Given the description of an element on the screen output the (x, y) to click on. 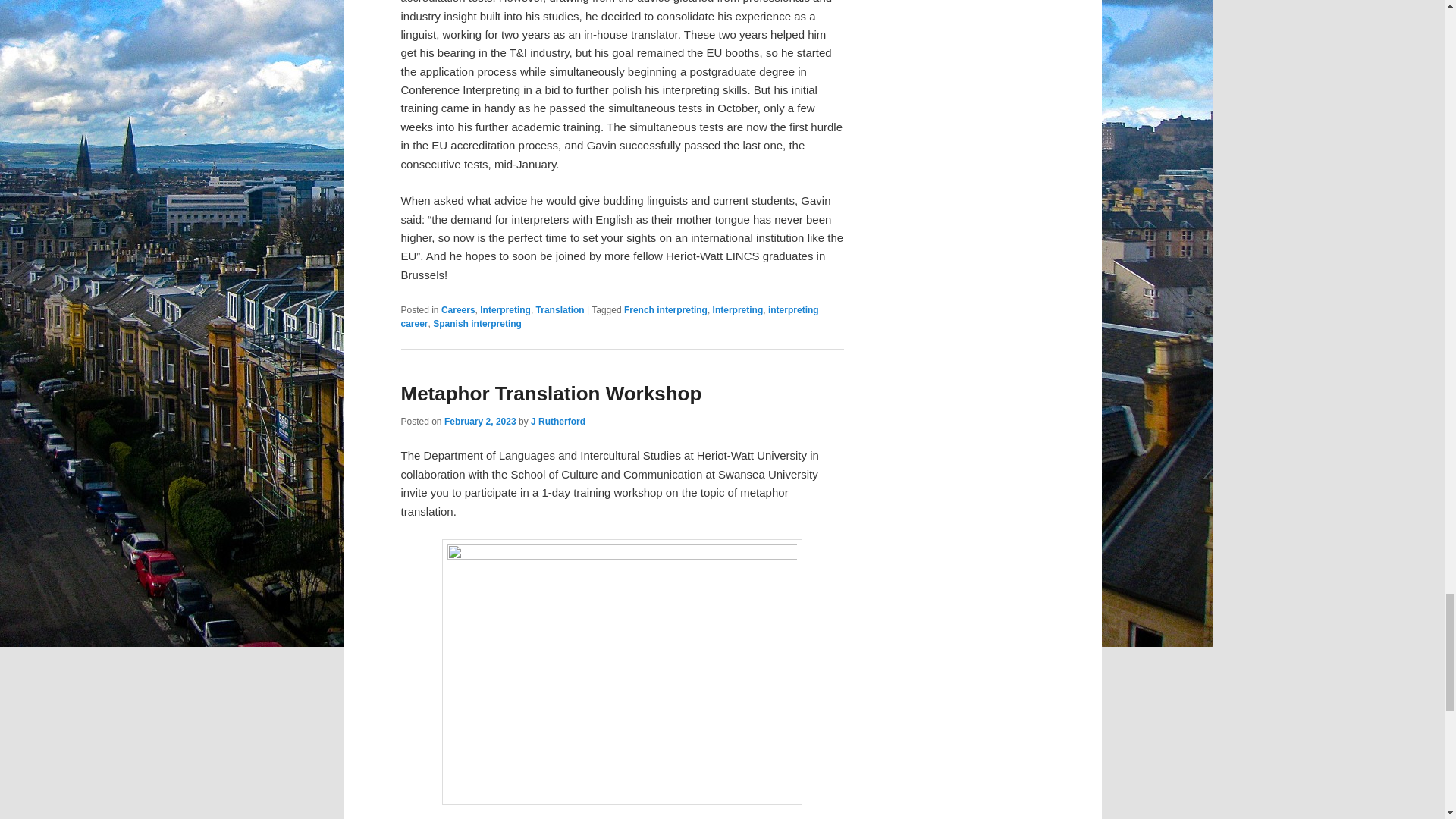
Interpreting (505, 309)
Metaphor Translation Workshop (550, 393)
Interpreting (737, 309)
Translation (560, 309)
interpreting career (609, 316)
Spanish interpreting (476, 323)
French interpreting (665, 309)
Careers (458, 309)
February 2, 2023 (480, 421)
